Given the description of an element on the screen output the (x, y) to click on. 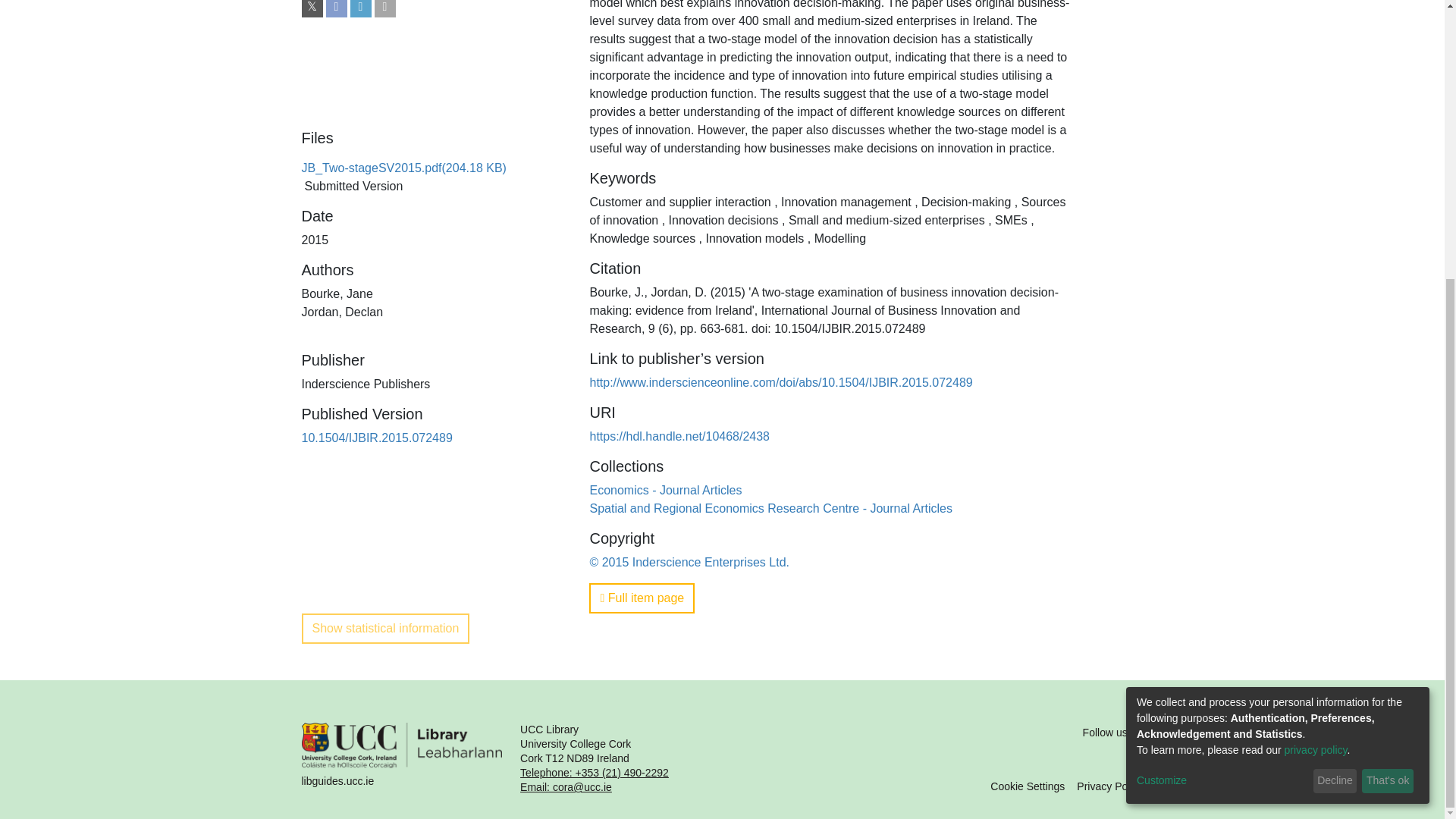
Cookie Settings (1027, 786)
Decline (1334, 364)
Customize (1222, 365)
privacy policy (1316, 334)
libguides.ucc.ie (401, 758)
Economics - Journal Articles (665, 490)
Show statistical information (385, 628)
Privacy Policy (1109, 786)
Full item page (641, 598)
